Given the description of an element on the screen output the (x, y) to click on. 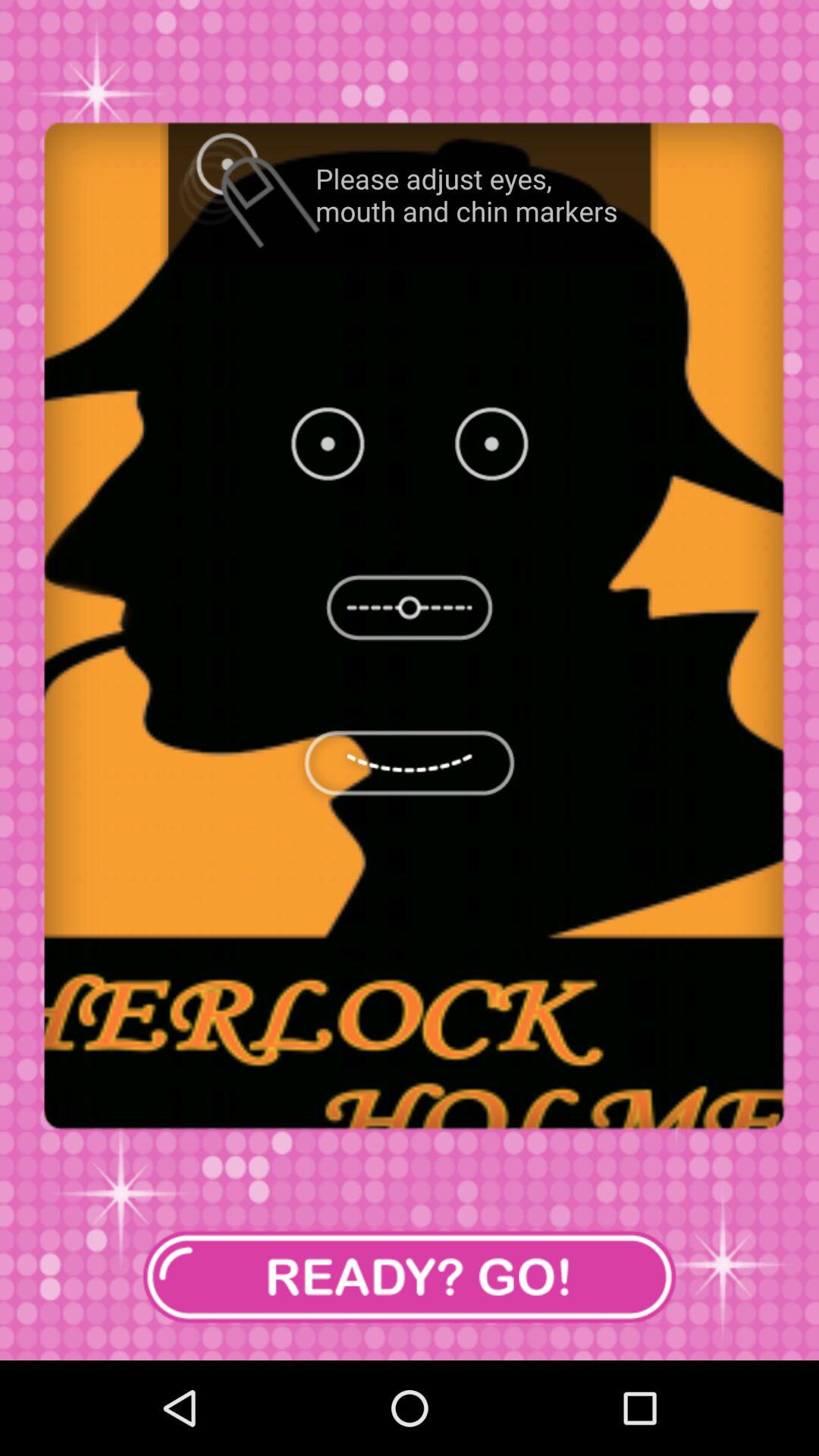
start playing (409, 1276)
